Given the description of an element on the screen output the (x, y) to click on. 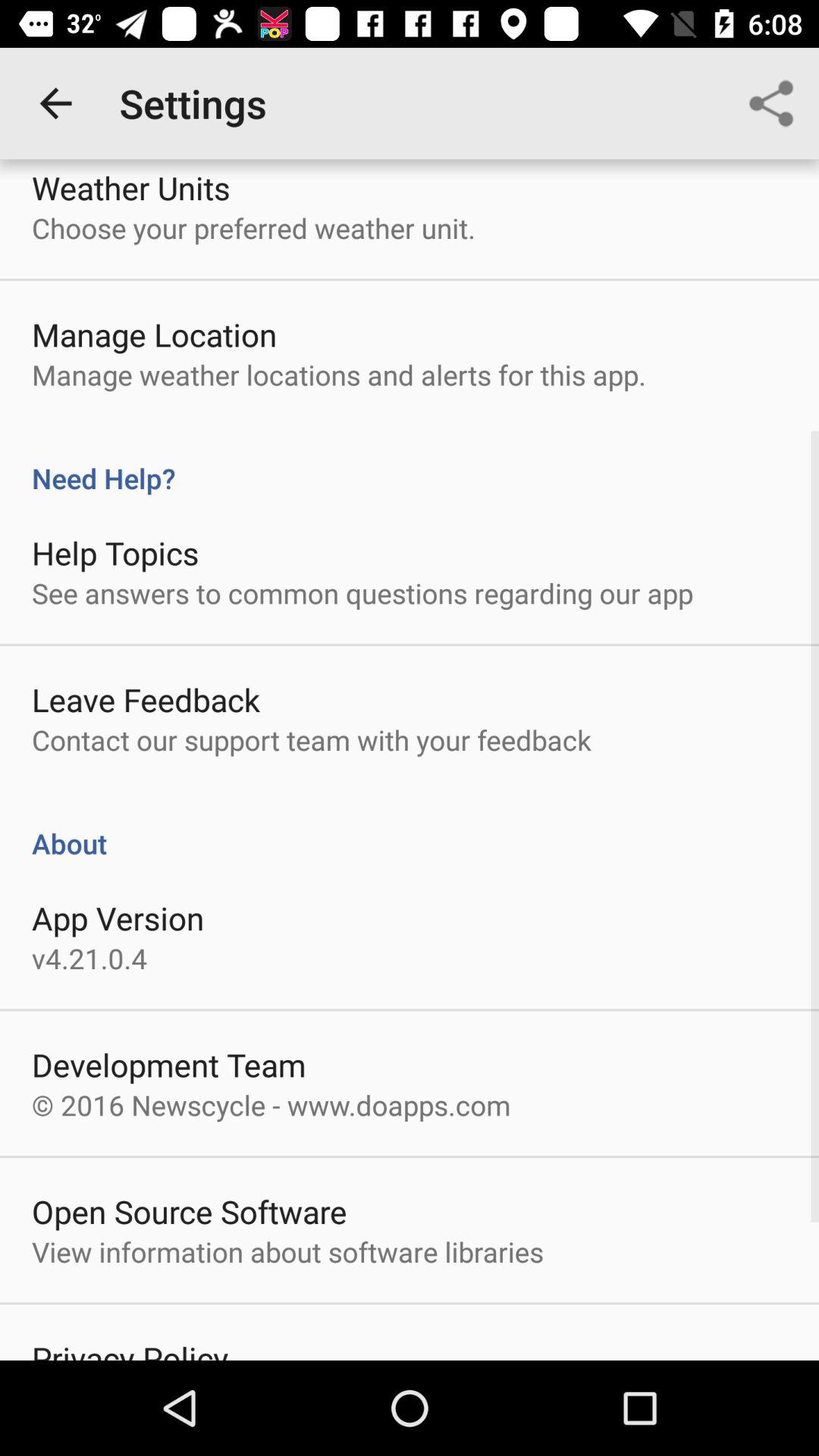
open item above need help? icon (771, 103)
